Given the description of an element on the screen output the (x, y) to click on. 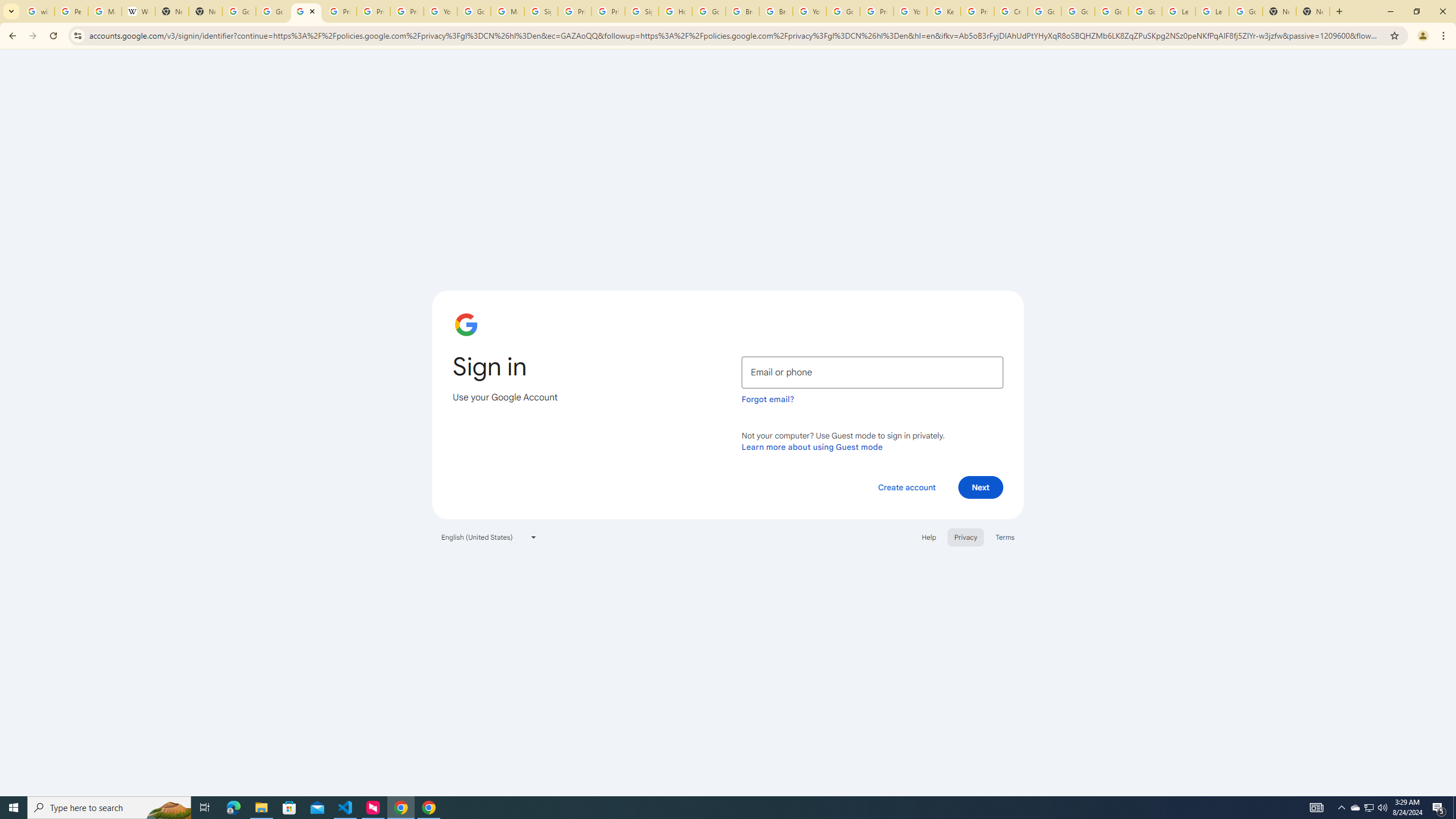
Sign in - Google Accounts (541, 11)
Terms (1005, 536)
Google Account Help (1111, 11)
YouTube (909, 11)
YouTube (441, 11)
Brand Resource Center (742, 11)
Wikipedia:Edit requests - Wikipedia (138, 11)
